Given the description of an element on the screen output the (x, y) to click on. 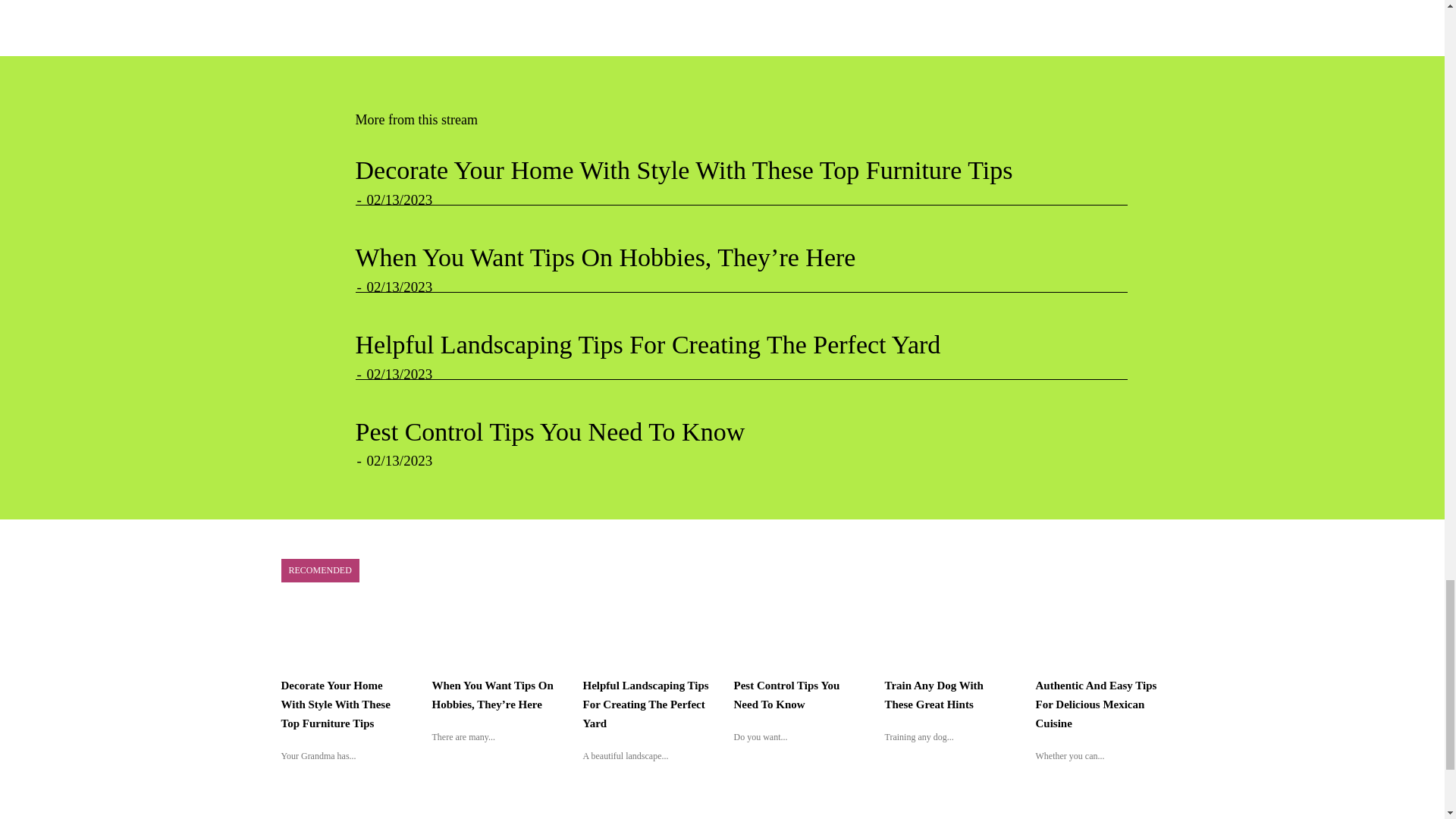
Decorate Your Home With Style With These Top Furniture Tips (683, 170)
Pest Control Tips You Need To Know (549, 431)
Helpful Landscaping Tips For Creating The Perfect Yard (647, 344)
Decorate Your Home With Style With These Top Furniture Tips (335, 704)
Decorate Your Home With Style With These Top Furniture Tips (683, 170)
Helpful Landscaping Tips For Creating The Perfect Yard (647, 344)
